Given the description of an element on the screen output the (x, y) to click on. 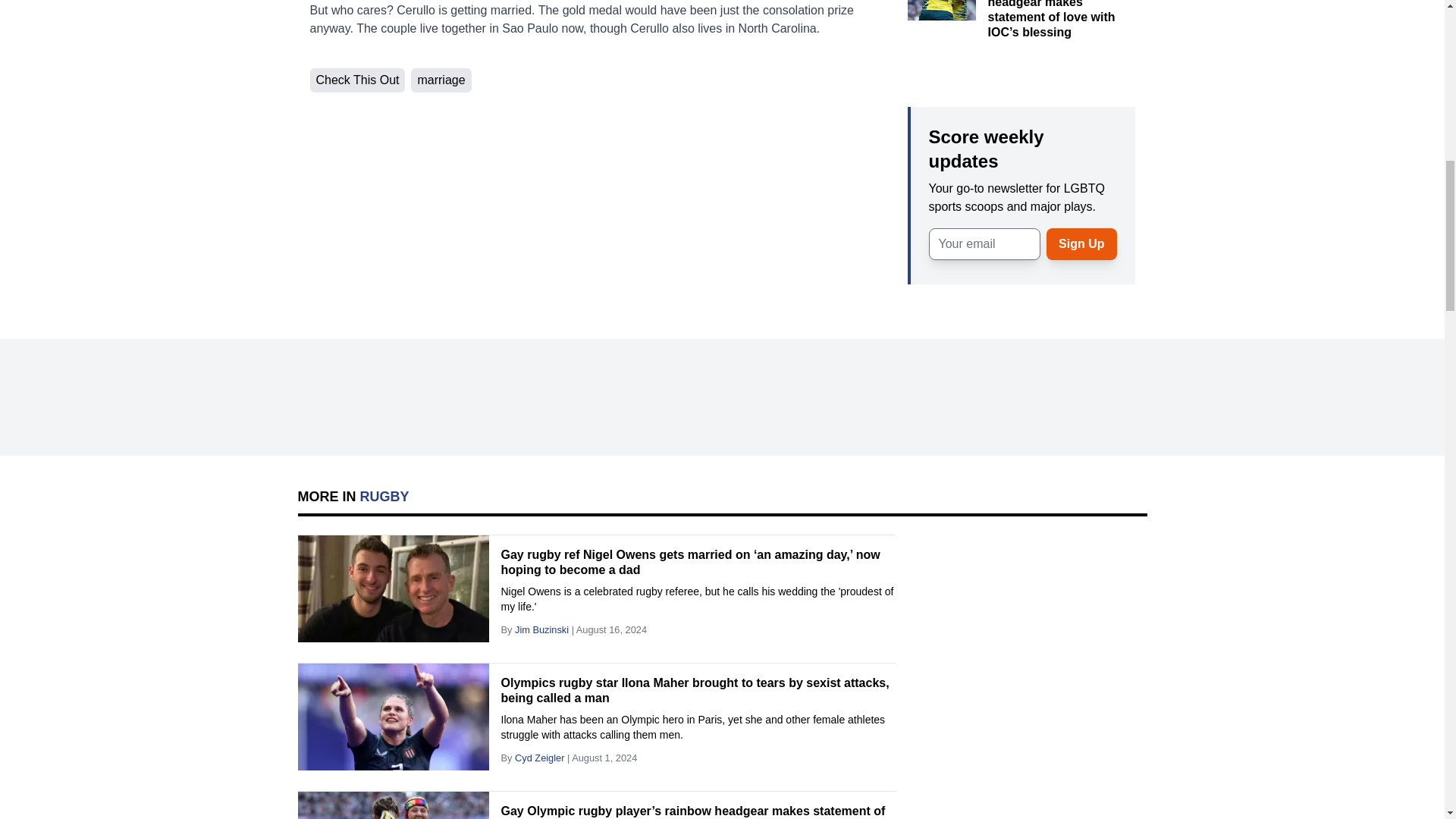
Cyd Zeigler (539, 757)
Jim Buzinski (542, 628)
Check This Out (356, 79)
Sign Up (1081, 243)
marriage (440, 79)
